Given the description of an element on the screen output the (x, y) to click on. 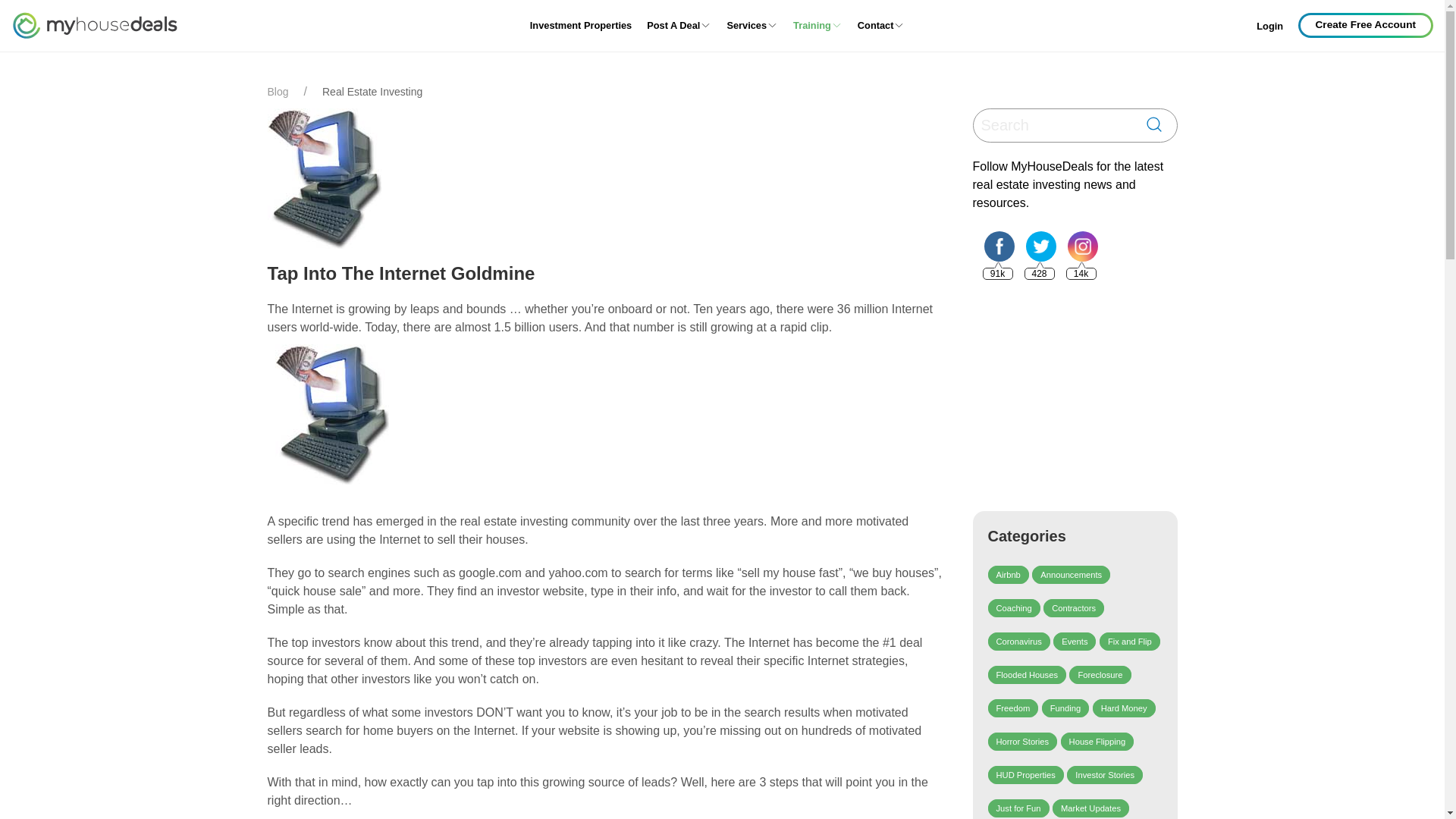
Investment Properties (580, 25)
Search for: (1053, 125)
Services (752, 25)
Advertisement (1085, 395)
Training (818, 25)
Instagram (1082, 246)
Login (1269, 26)
Post A Deal (679, 25)
Facebook (998, 246)
Blog (277, 91)
